Given the description of an element on the screen output the (x, y) to click on. 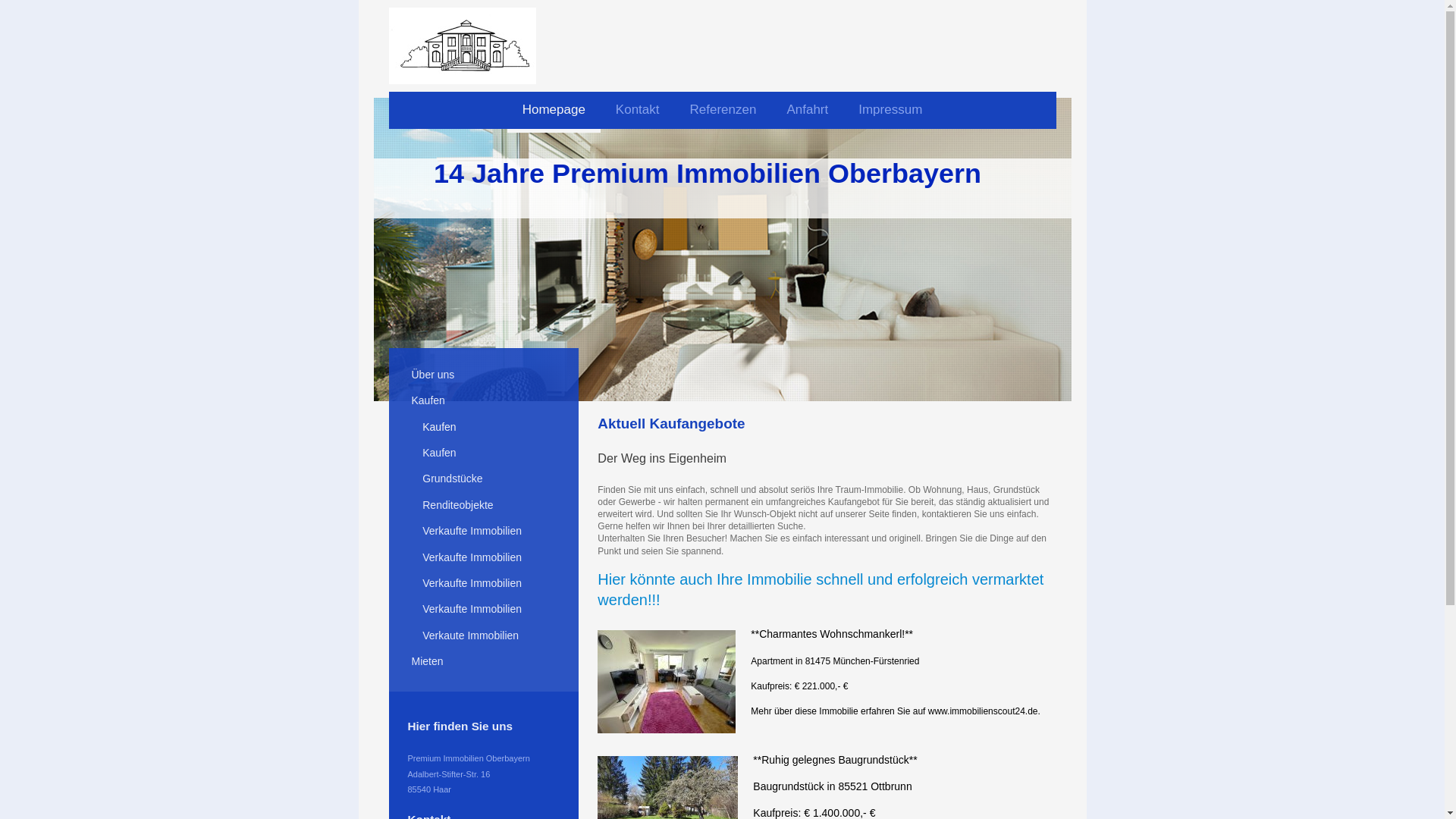
Homepage Element type: text (553, 111)
Anfahrt Element type: text (807, 111)
Renditeobjekte Element type: text (458, 506)
Referenzen Element type: text (722, 111)
Verkaufte Immobilien Element type: text (473, 611)
Mieten Element type: text (428, 662)
Impressum Element type: text (890, 111)
Kaufen Element type: text (440, 428)
Verkaufte Immobilien Element type: text (473, 533)
Verkaufte Immobilien Element type: text (473, 584)
Verkaufte Immobilien Element type: text (473, 558)
Kontakt Element type: text (637, 111)
Verkaute Immobilien Element type: text (471, 636)
Kaufen Element type: text (440, 454)
Kaufen Element type: text (429, 402)
